Given the description of an element on the screen output the (x, y) to click on. 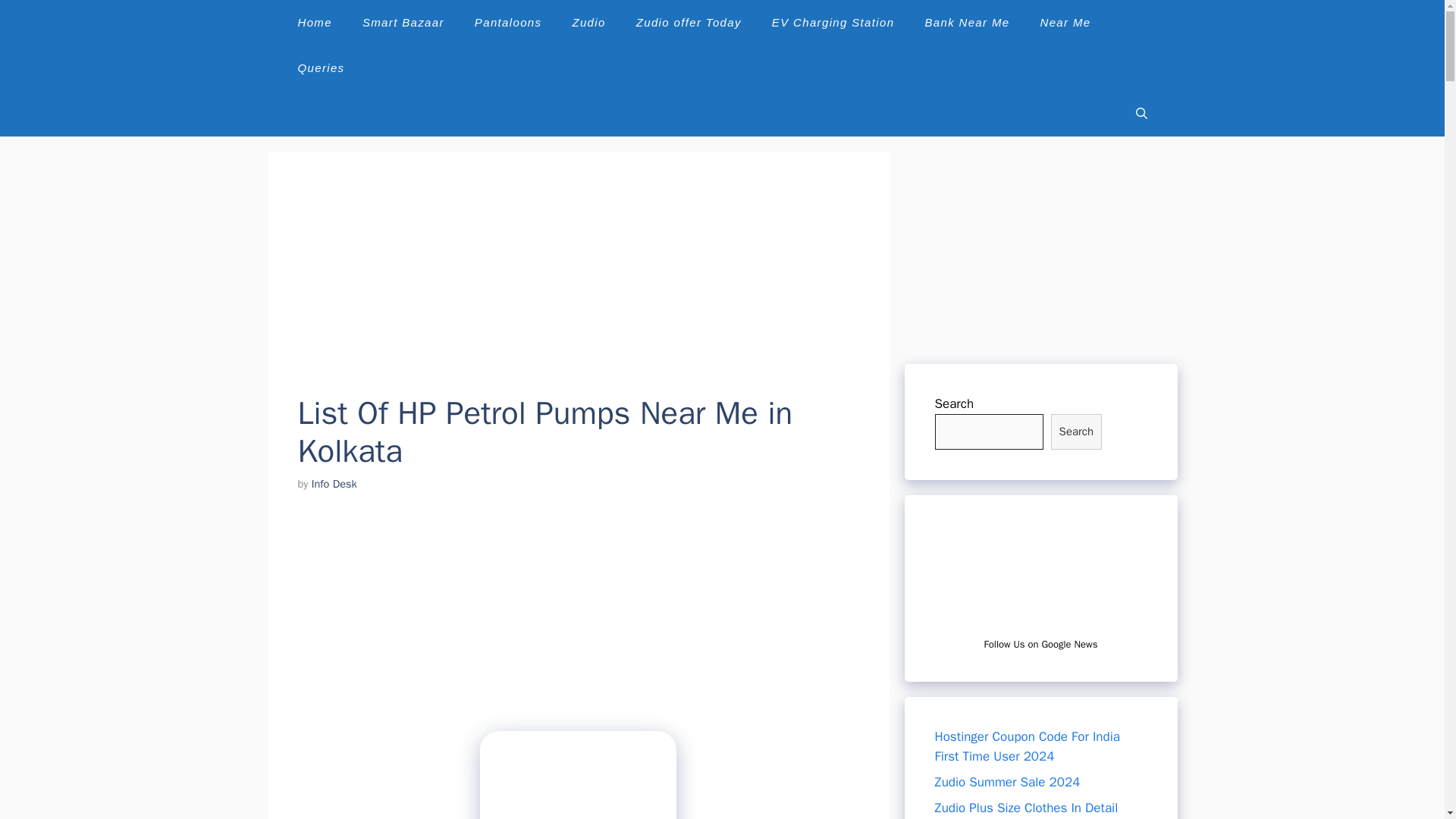
Zudio (588, 22)
Bank Near Me (966, 22)
Hostinger Coupon Code For India First Time User 2024 (1026, 746)
Zudio Plus Size Clothes In Detail (1026, 806)
Smart Bazaar (403, 22)
Pantaloons (508, 22)
Near Me (1065, 22)
EV Charging Station (833, 22)
Info Desk (333, 483)
Queries (320, 67)
